Given the description of an element on the screen output the (x, y) to click on. 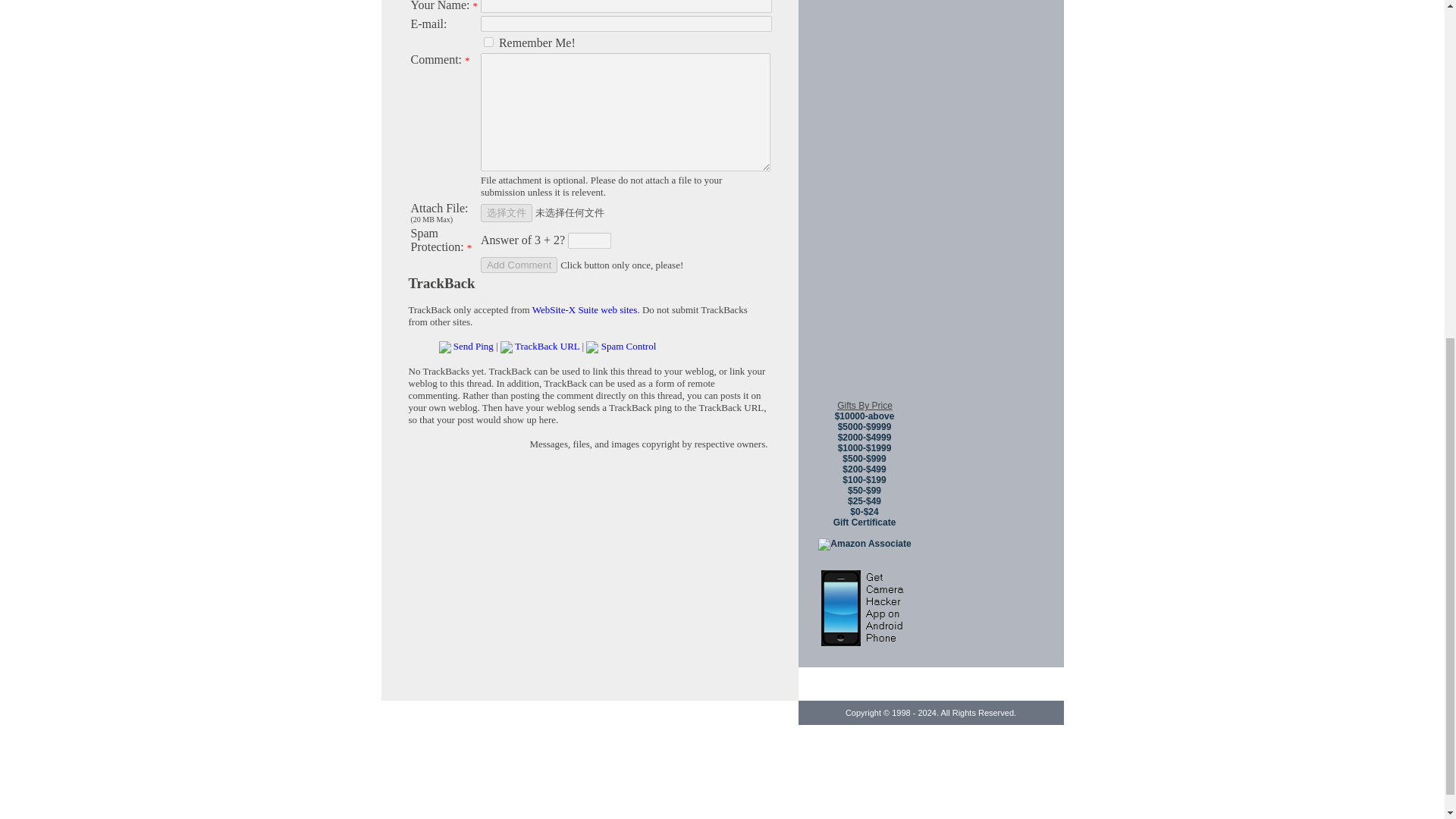
Add Comment (518, 264)
Add Comment (518, 264)
TrackBack (440, 283)
yes (488, 41)
Send Ping (472, 346)
WebSite-X Suite web sites (584, 309)
